Given the description of an element on the screen output the (x, y) to click on. 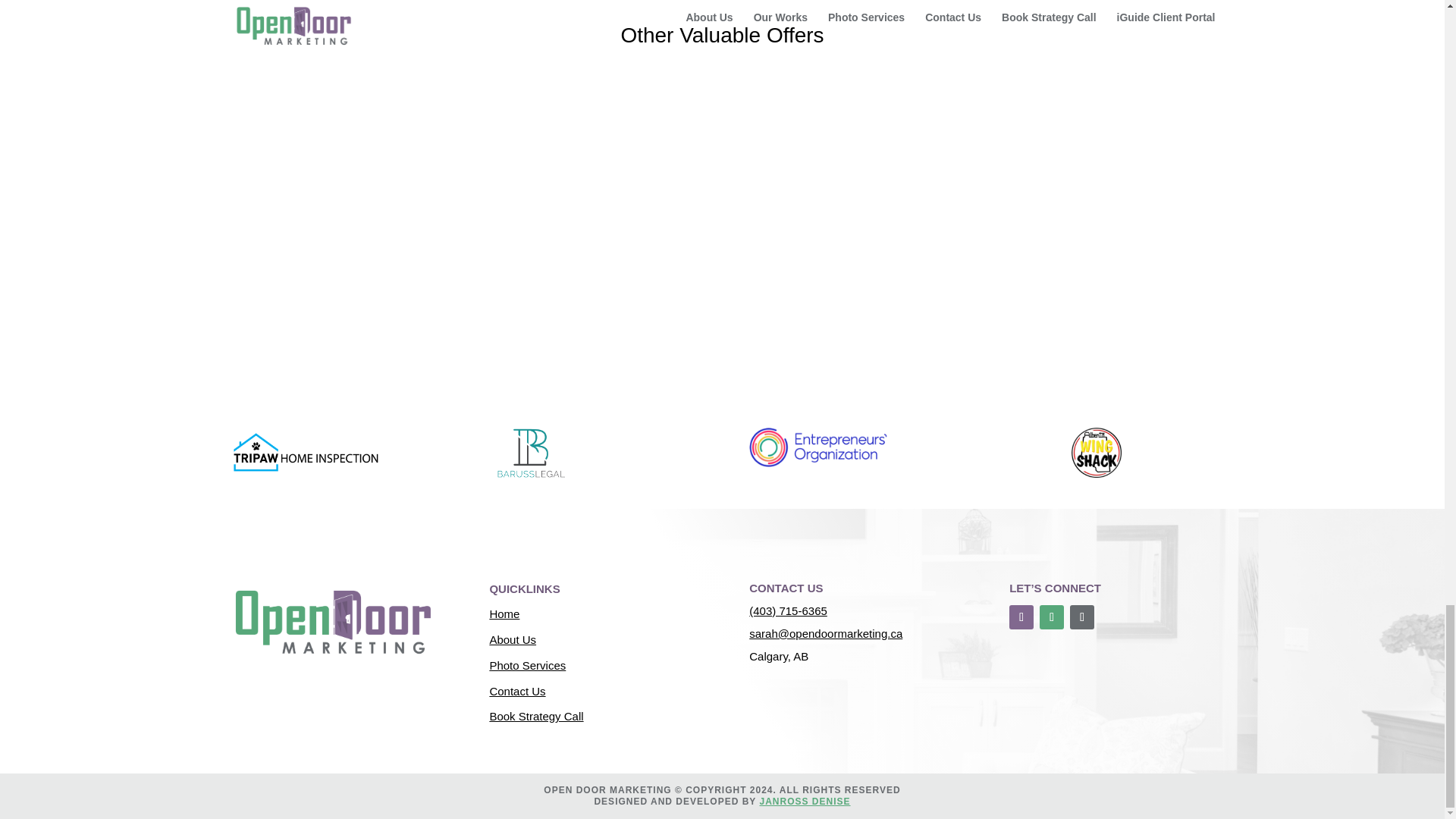
JANROSS DENISE (805, 801)
Transparent (330, 621)
Follow on LinkedIn (1082, 617)
Follow on Facebook (1021, 617)
MARKETING HOME INSPECTIONS (304, 452)
logo2020 (817, 446)
Home (504, 613)
Baruss Legal (530, 452)
Book Strategy Call (536, 716)
alberta-wing-shack-logo (1096, 451)
Photo Services (527, 665)
Contact Us (516, 690)
About Us (512, 639)
Follow on Instagram (1051, 617)
